Given the description of an element on the screen output the (x, y) to click on. 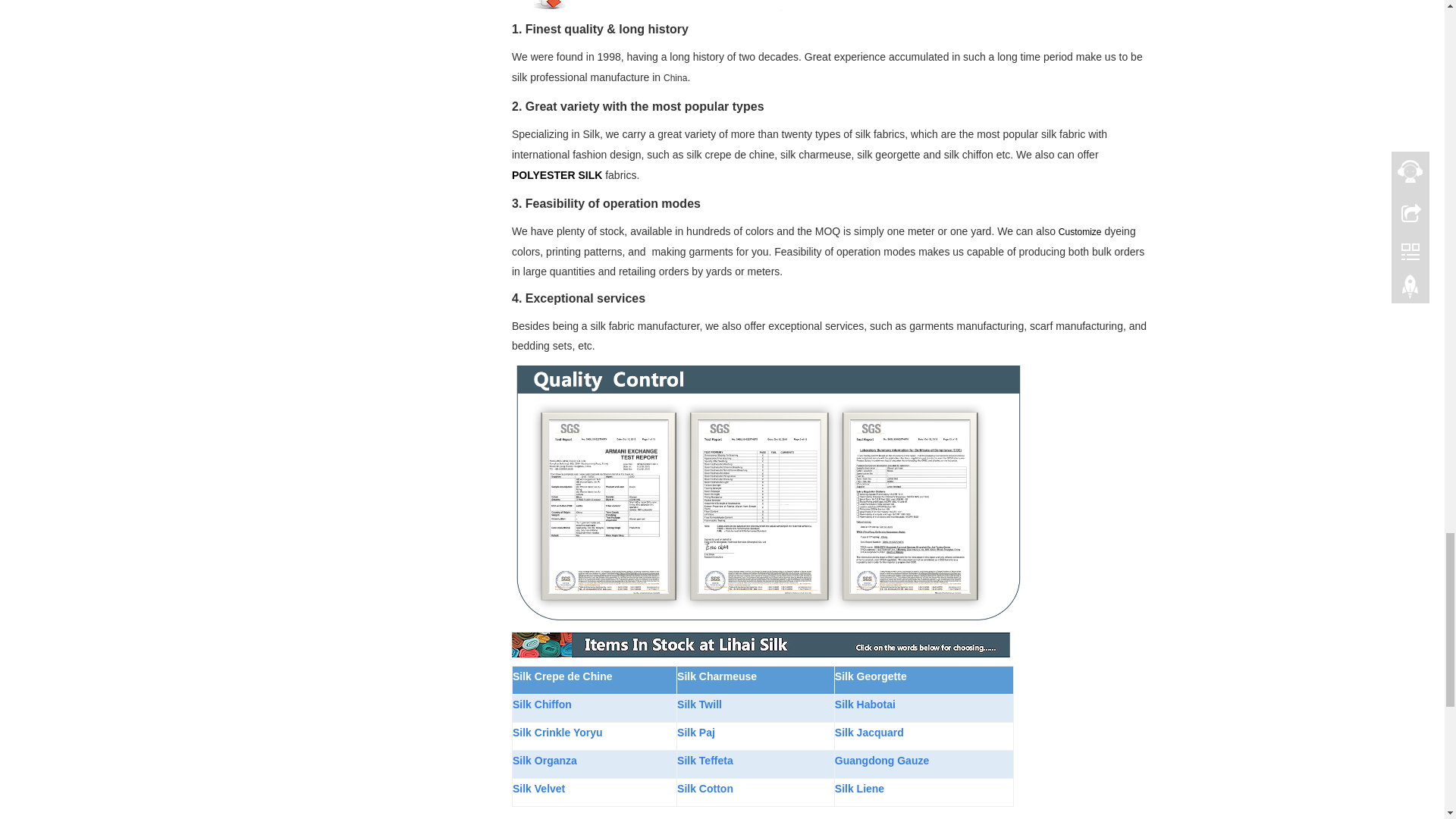
Silk Charmeuse (717, 676)
Silk Organza (544, 760)
Silk Teffeta (705, 759)
Silk Habotai (864, 703)
Silk Cotton (705, 788)
Silk Chiffon (542, 704)
Silk Paj (695, 732)
Silk Velvet (538, 788)
Silk Twill (699, 704)
Silk Crinkle Yoryu (557, 731)
Guangdong Gauze (881, 759)
Silk Jacquard (869, 731)
Silk Crepe de Chine (561, 675)
Silk Georgette (870, 675)
